Given the description of an element on the screen output the (x, y) to click on. 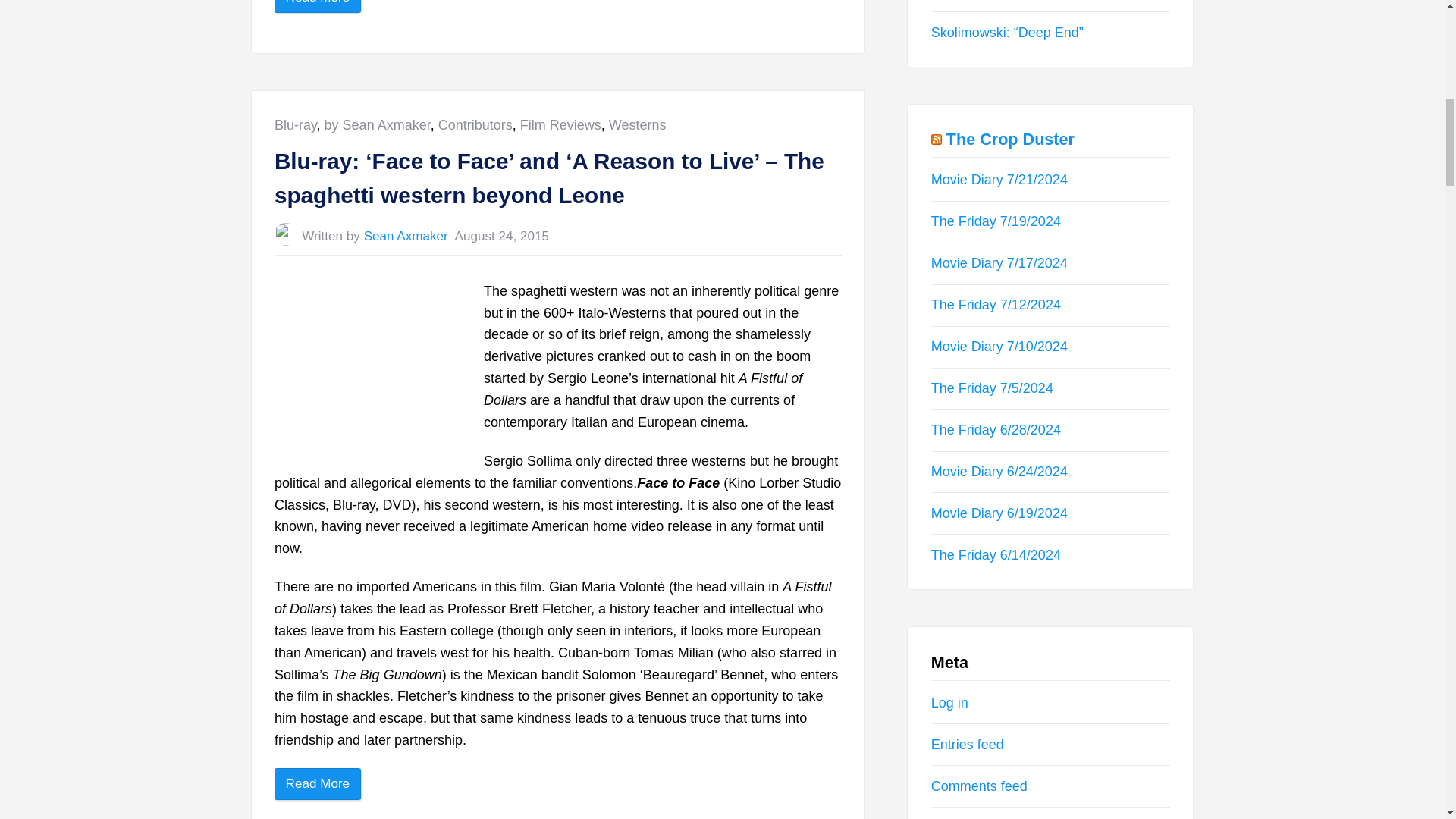
Blu-ray (296, 124)
August 24, 2015 (502, 236)
Contributors (475, 124)
by Sean Axmaker (377, 124)
Sean Axmaker (406, 236)
Film Reviews (560, 124)
Westerns (637, 124)
